Given the description of an element on the screen output the (x, y) to click on. 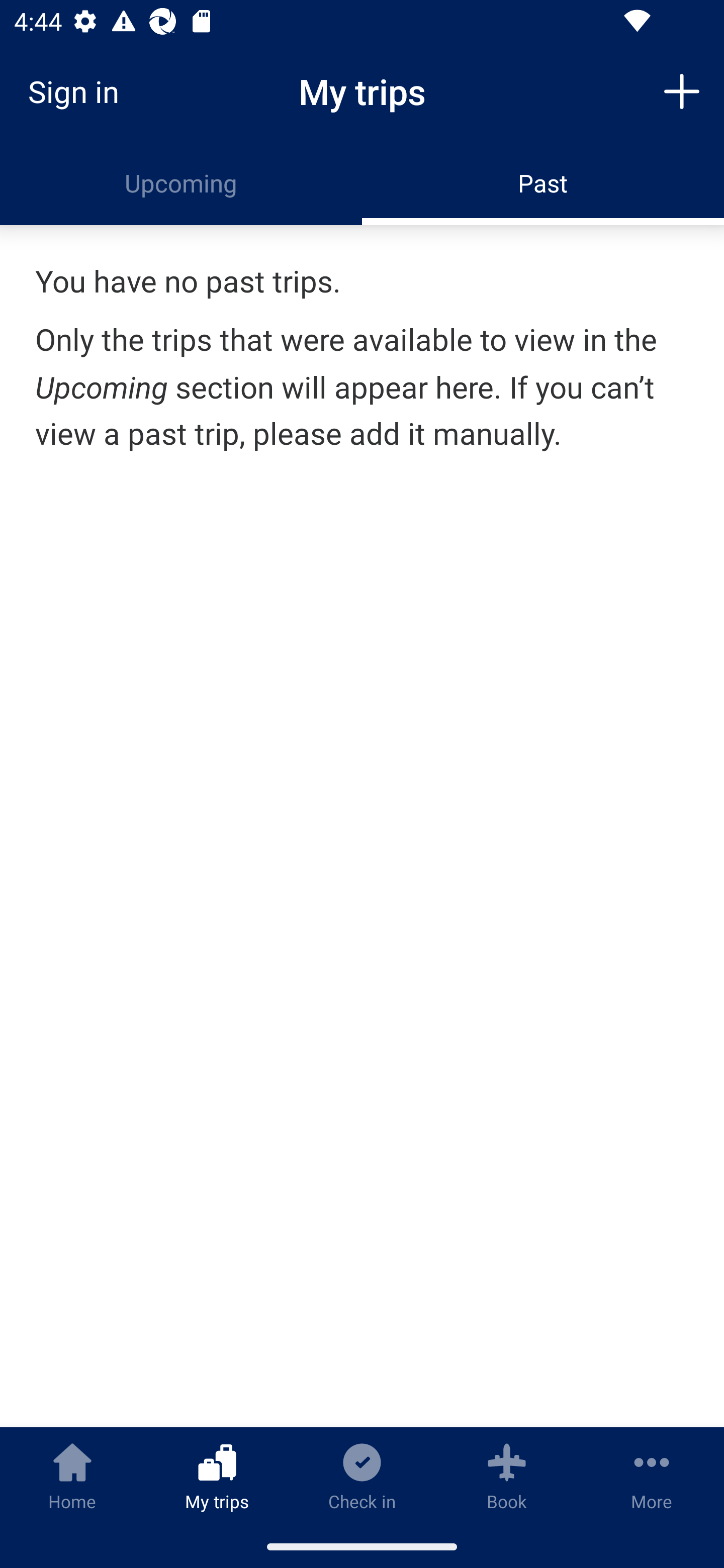
Sign in (80, 91)
Add trip (681, 90)
Upcoming (181, 183)
Home (72, 1475)
Check in (361, 1475)
Book (506, 1475)
More (651, 1475)
